Given the description of an element on the screen output the (x, y) to click on. 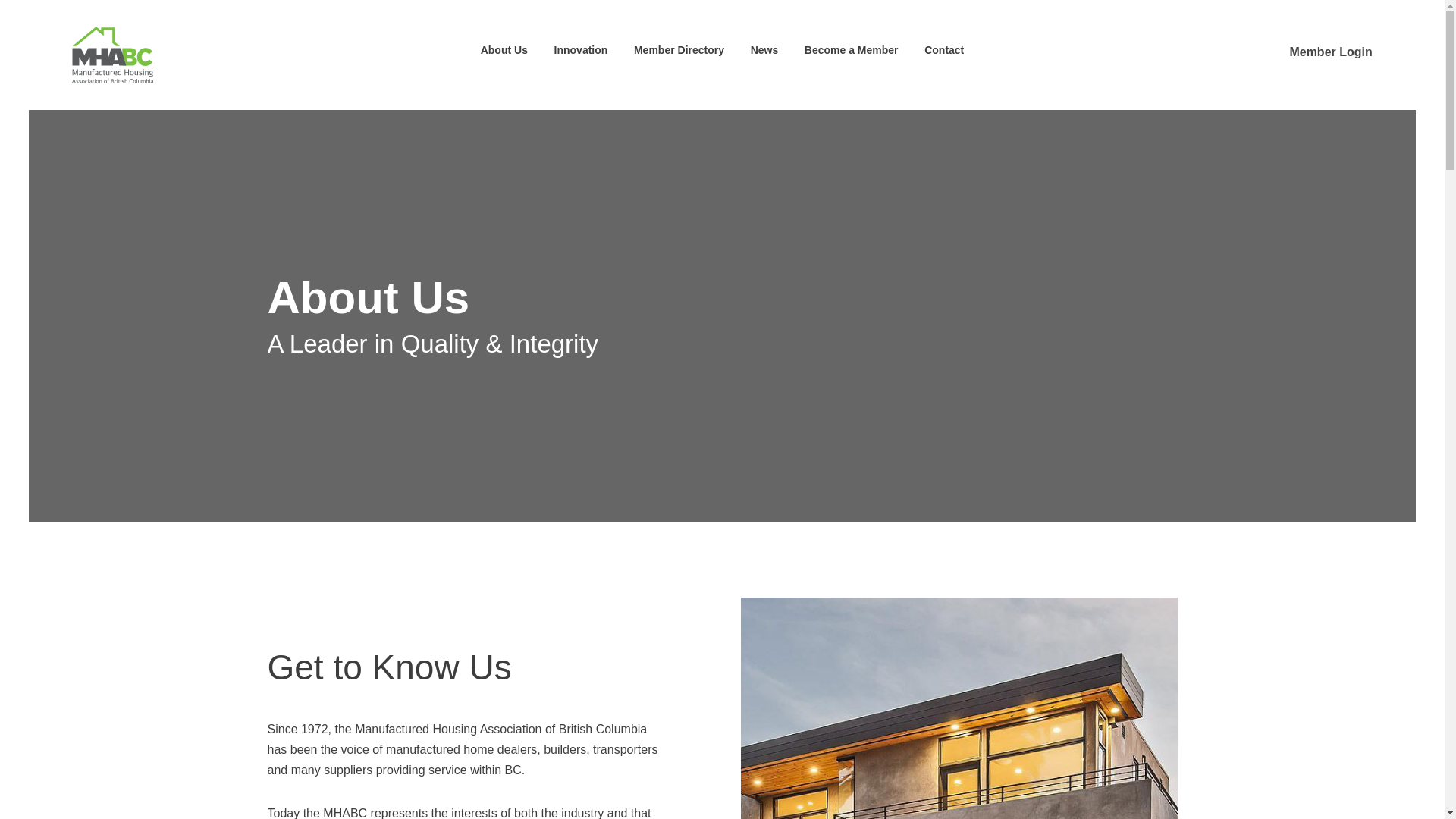
Become a Member (851, 54)
Member Directory (678, 54)
Member Login (1318, 51)
About Us (503, 54)
Contact (943, 54)
News (764, 54)
Innovation (580, 54)
